Given the description of an element on the screen output the (x, y) to click on. 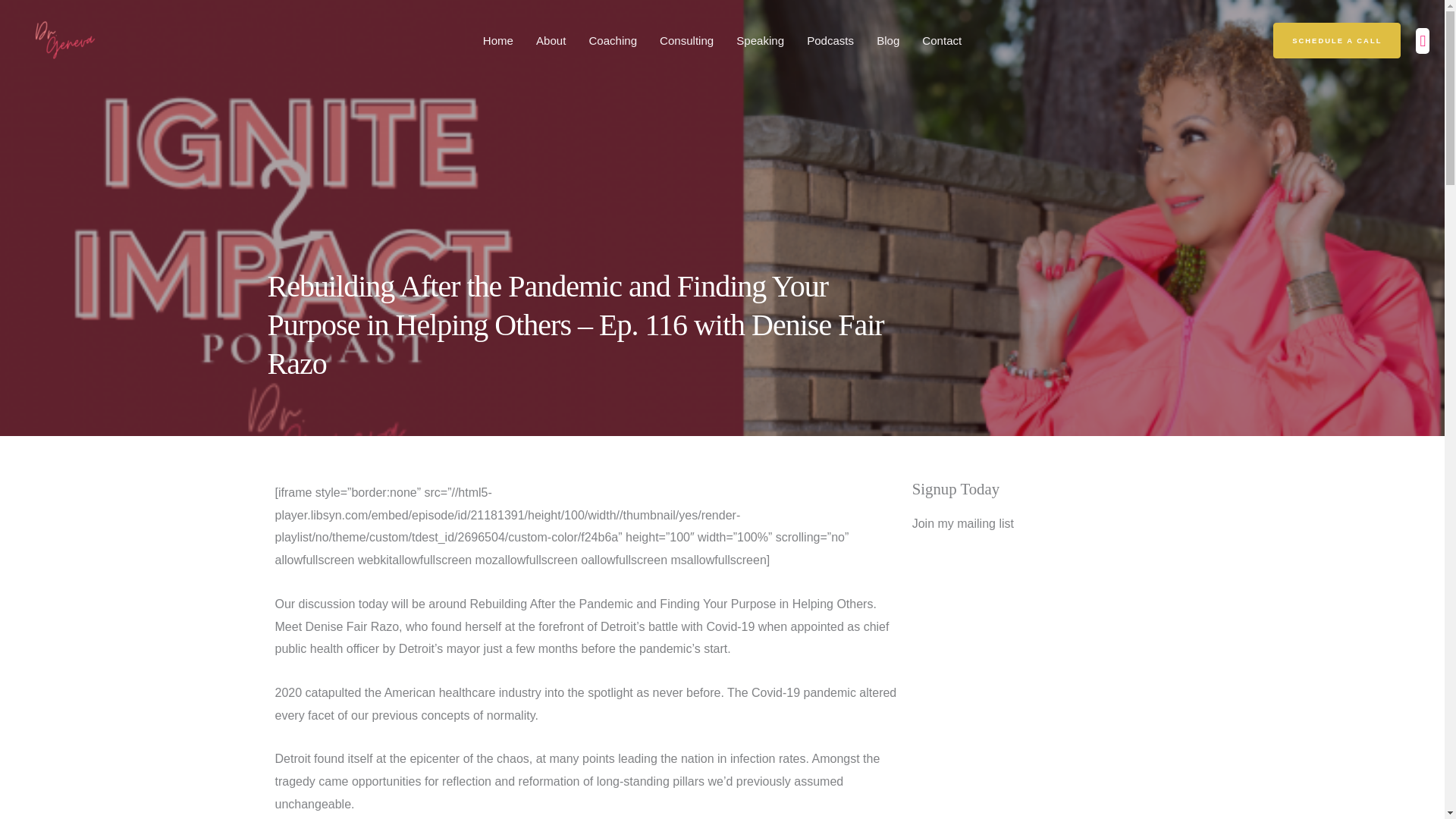
Speaking (759, 39)
Consulting (686, 39)
About (550, 39)
Podcasts (829, 39)
Home (497, 39)
Contact (941, 39)
SCHEDULE A CALL (1336, 40)
Coaching (611, 39)
